Given the description of an element on the screen output the (x, y) to click on. 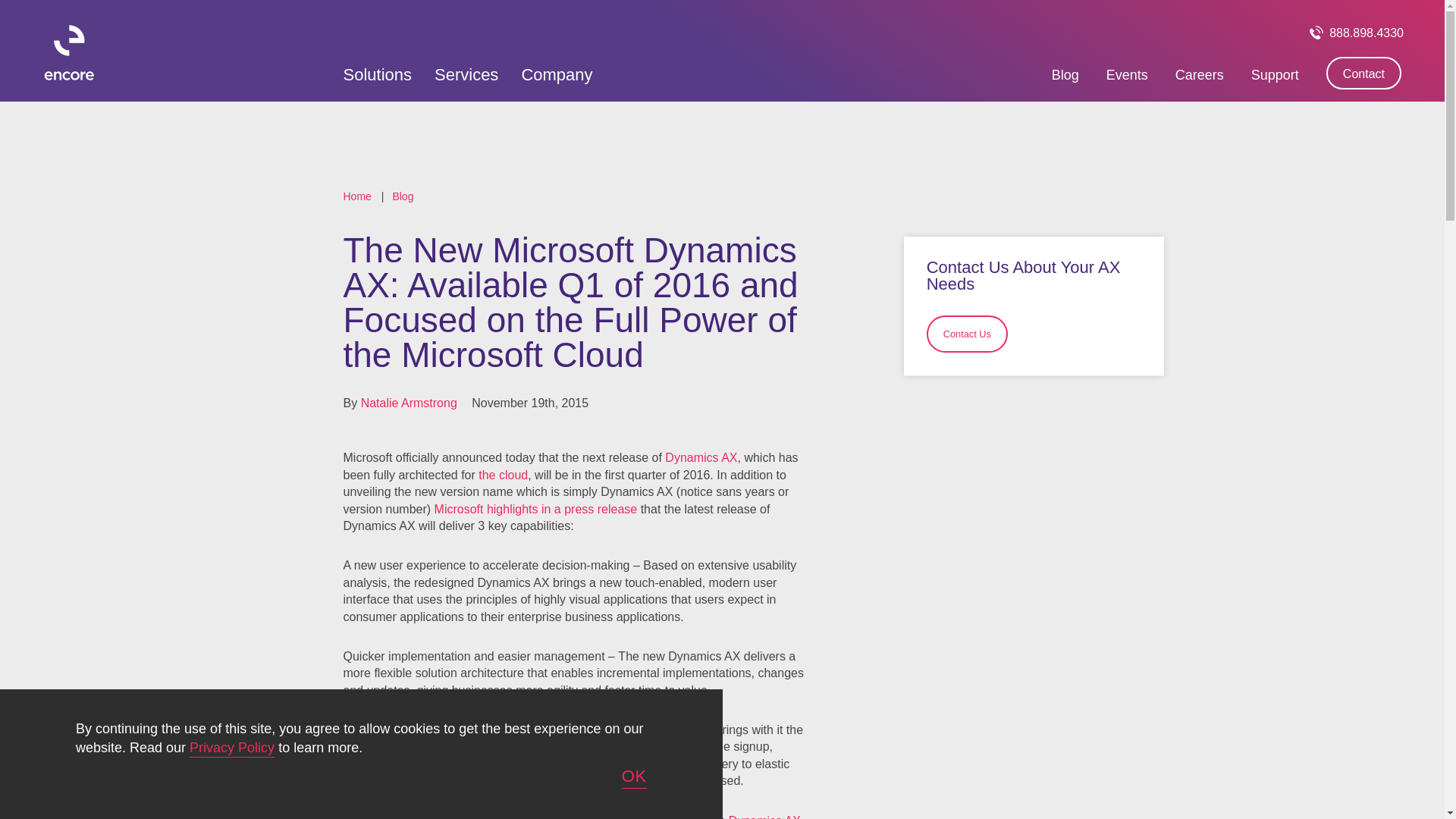
Solutions (377, 75)
Services (465, 75)
